Given the description of an element on the screen output the (x, y) to click on. 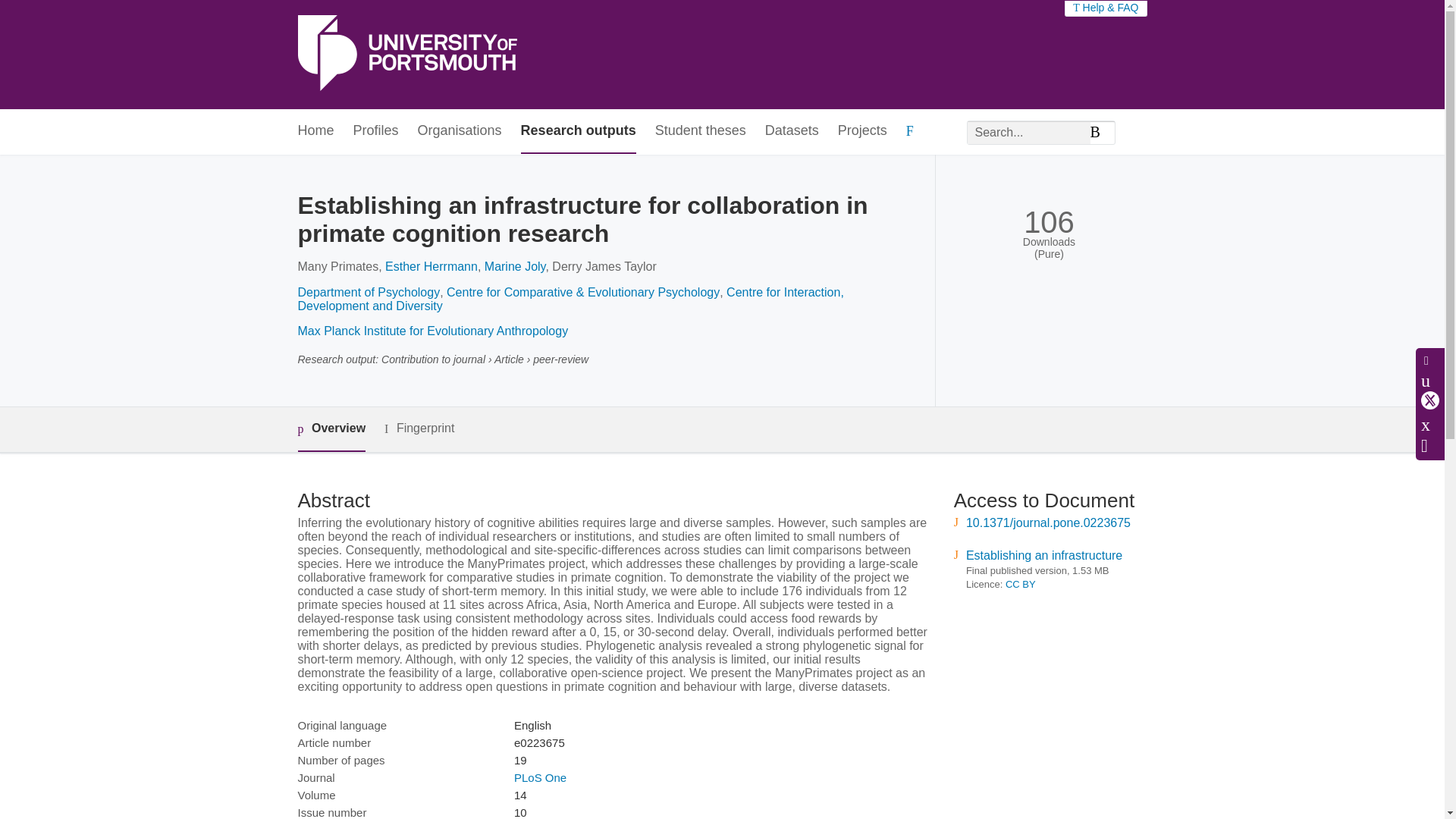
Research outputs (578, 130)
PLoS One (539, 777)
Student theses (700, 130)
Organisations (459, 130)
University of Portsmouth Home (406, 54)
CC BY (1020, 583)
Projects (862, 130)
Department of Psychology (368, 291)
Max Planck Institute for Evolutionary Anthropology (432, 330)
Establishing an infrastructure (1044, 554)
Centre for Interaction, Development and Diversity (570, 298)
Esther Herrmann (431, 266)
Overview (331, 429)
Marine Joly (515, 266)
Fingerprint (419, 428)
